Given the description of an element on the screen output the (x, y) to click on. 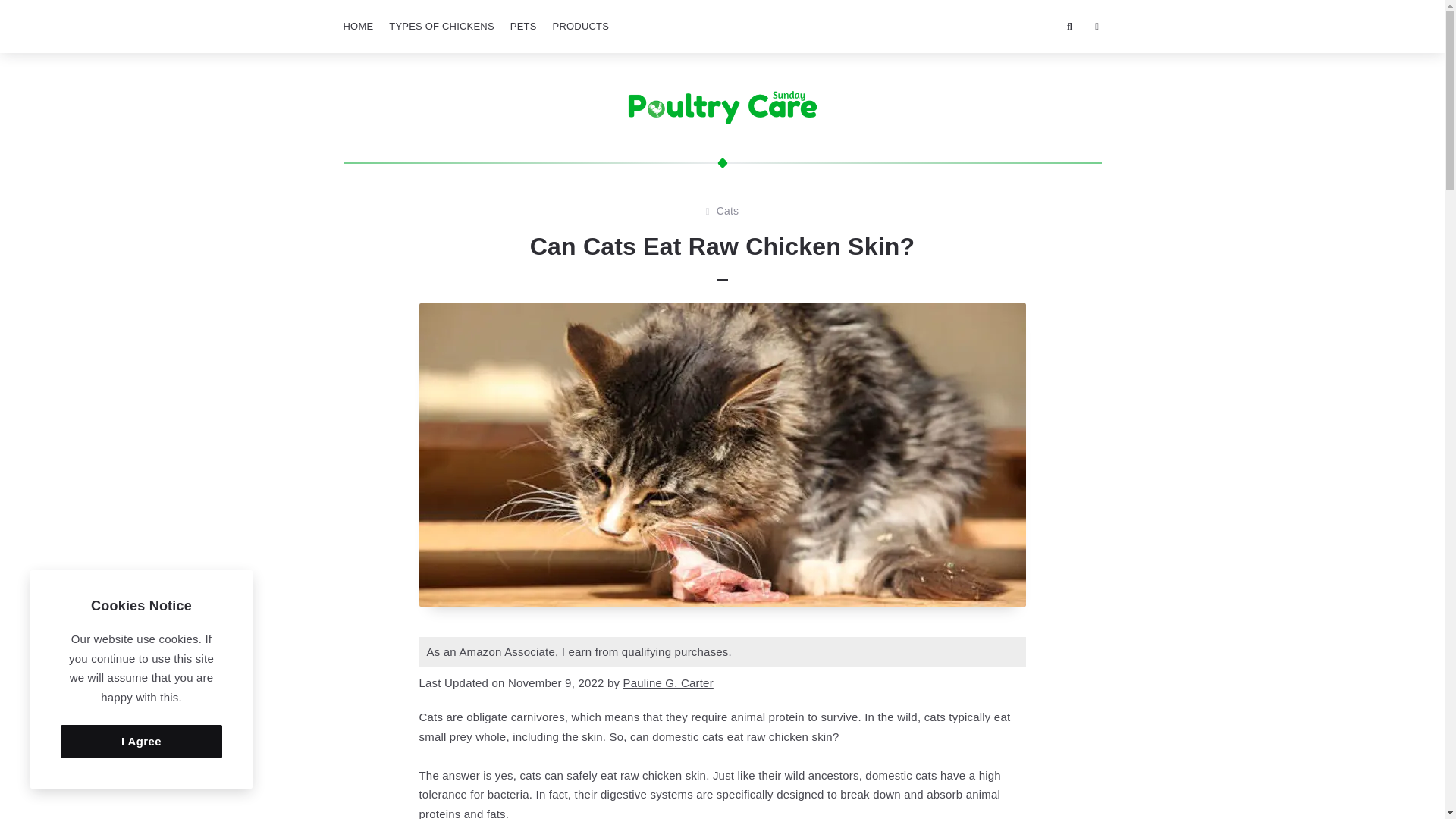
PRODUCTS (580, 26)
HOME (357, 26)
Cats (727, 211)
TYPES OF CHICKENS (441, 26)
Pauline G. Carter (668, 682)
